Given the description of an element on the screen output the (x, y) to click on. 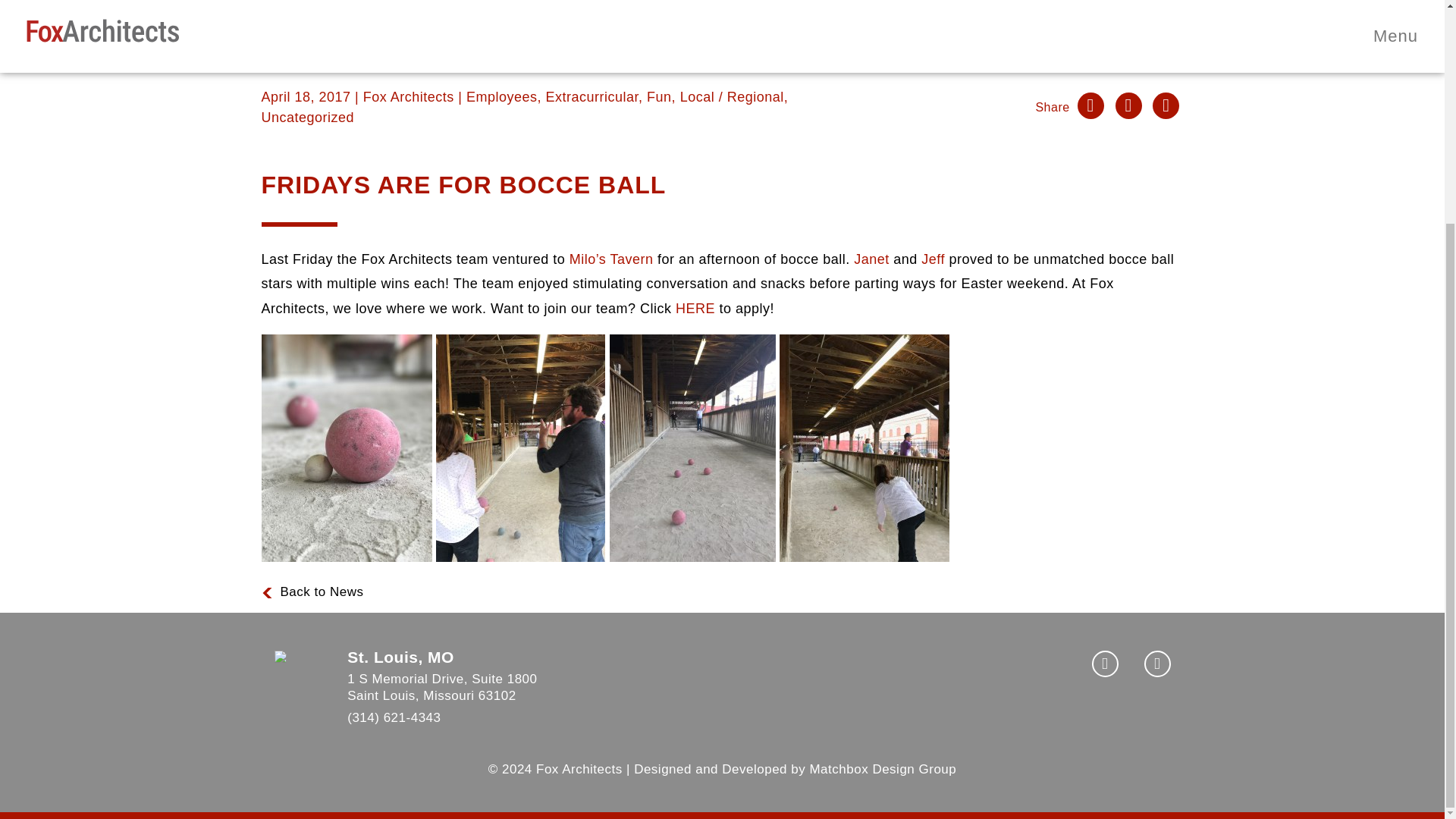
Share this on Facebook (1090, 105)
Janet (871, 258)
Instagram (1105, 663)
Uncategorized (306, 117)
Fun (658, 96)
Extracurricular (592, 96)
Jeff (932, 258)
Matchbox Design Group (882, 769)
Back to News (513, 686)
